Given the description of an element on the screen output the (x, y) to click on. 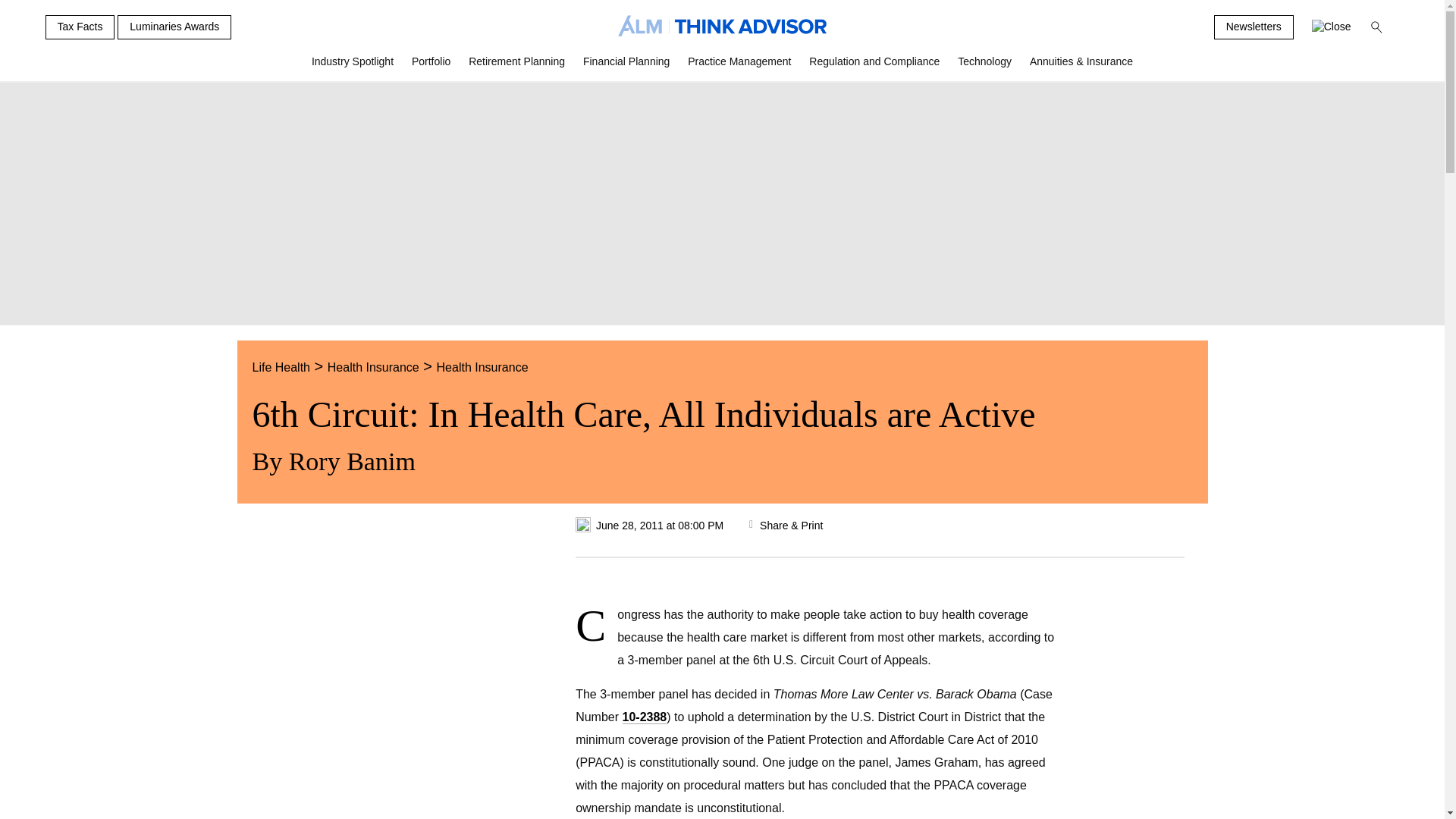
Industry Spotlight (352, 67)
Tax Facts (80, 27)
Luminaries Awards (174, 27)
Newsletters (1254, 27)
